Given the description of an element on the screen output the (x, y) to click on. 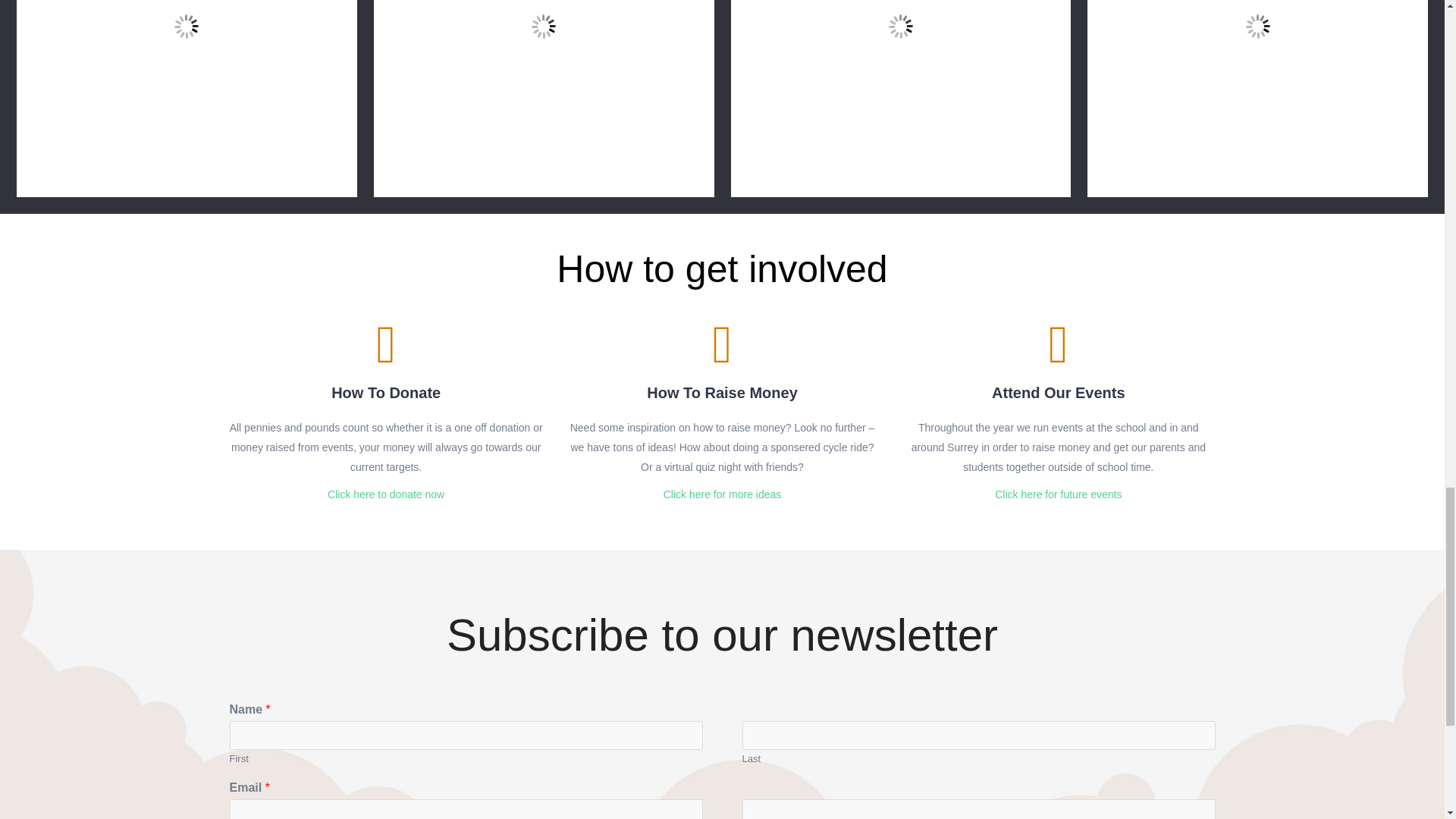
Click here for more ideas (722, 494)
Click here to donate now (385, 494)
Click here for future events (1057, 494)
